Given the description of an element on the screen output the (x, y) to click on. 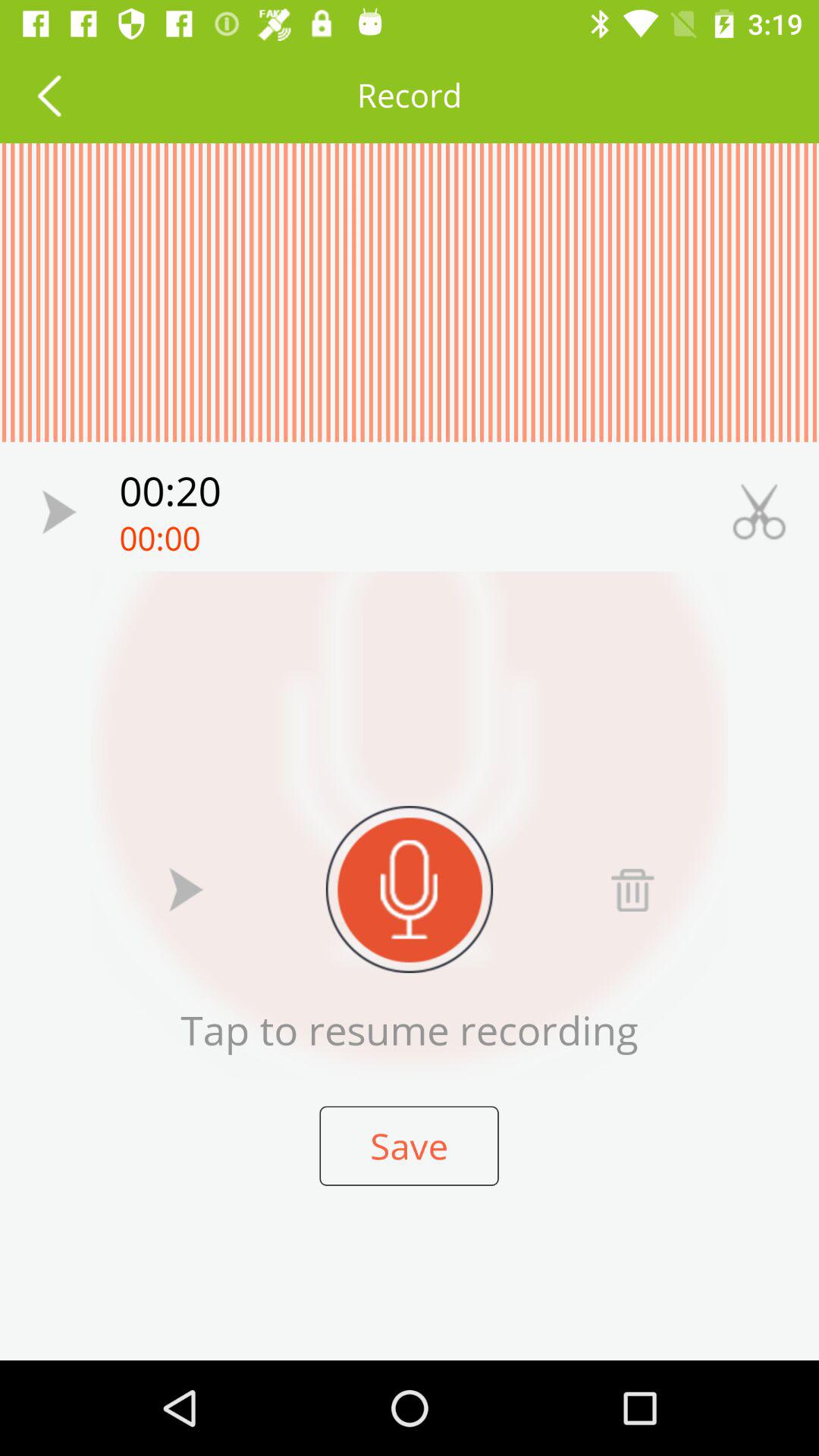
play current recording (186, 889)
